Given the description of an element on the screen output the (x, y) to click on. 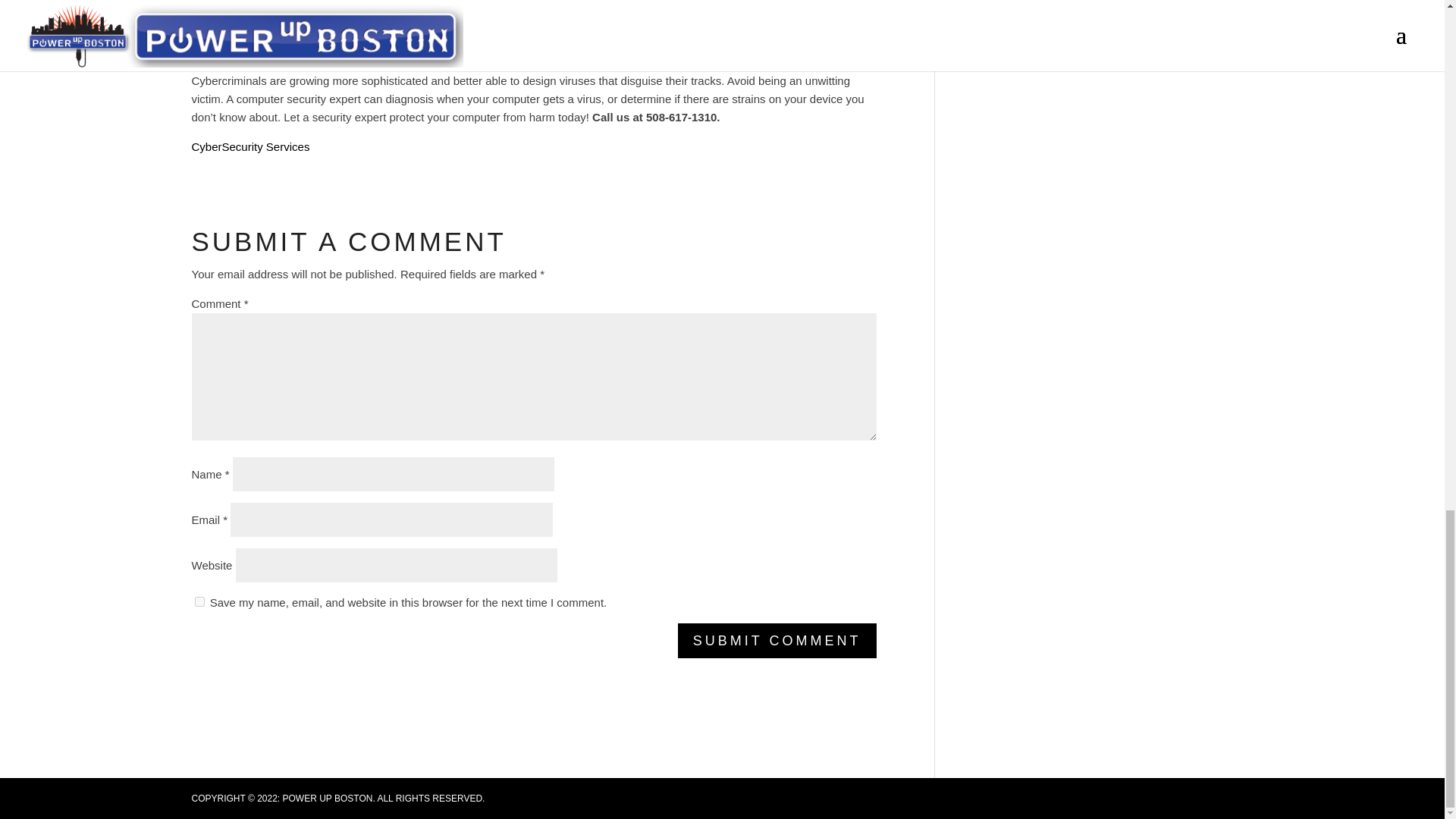
Submit Comment (777, 640)
CyberSecurity Services (249, 146)
yes (198, 601)
Submit Comment (777, 640)
